Given the description of an element on the screen output the (x, y) to click on. 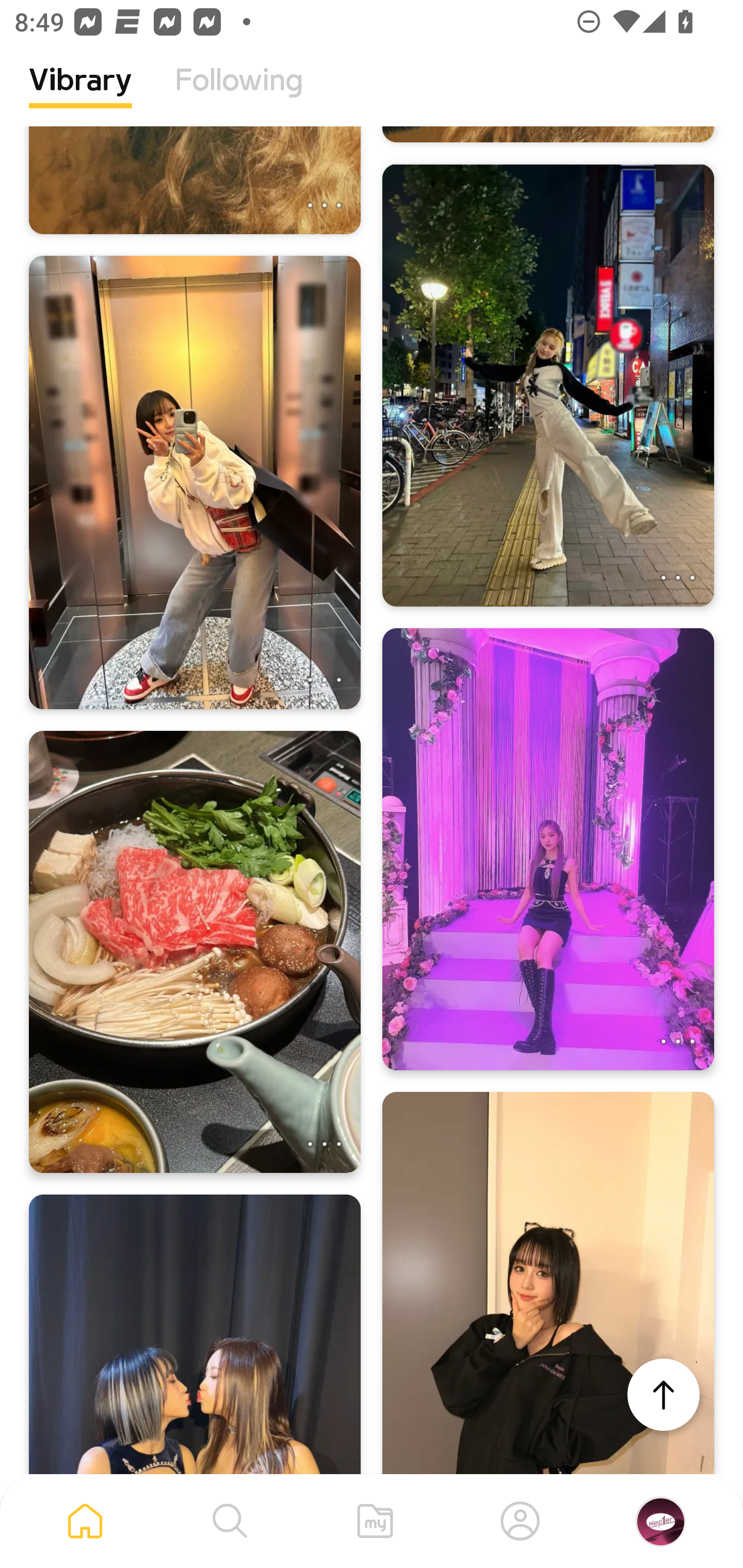
Vibrary (80, 95)
Following (239, 95)
